Given the description of an element on the screen output the (x, y) to click on. 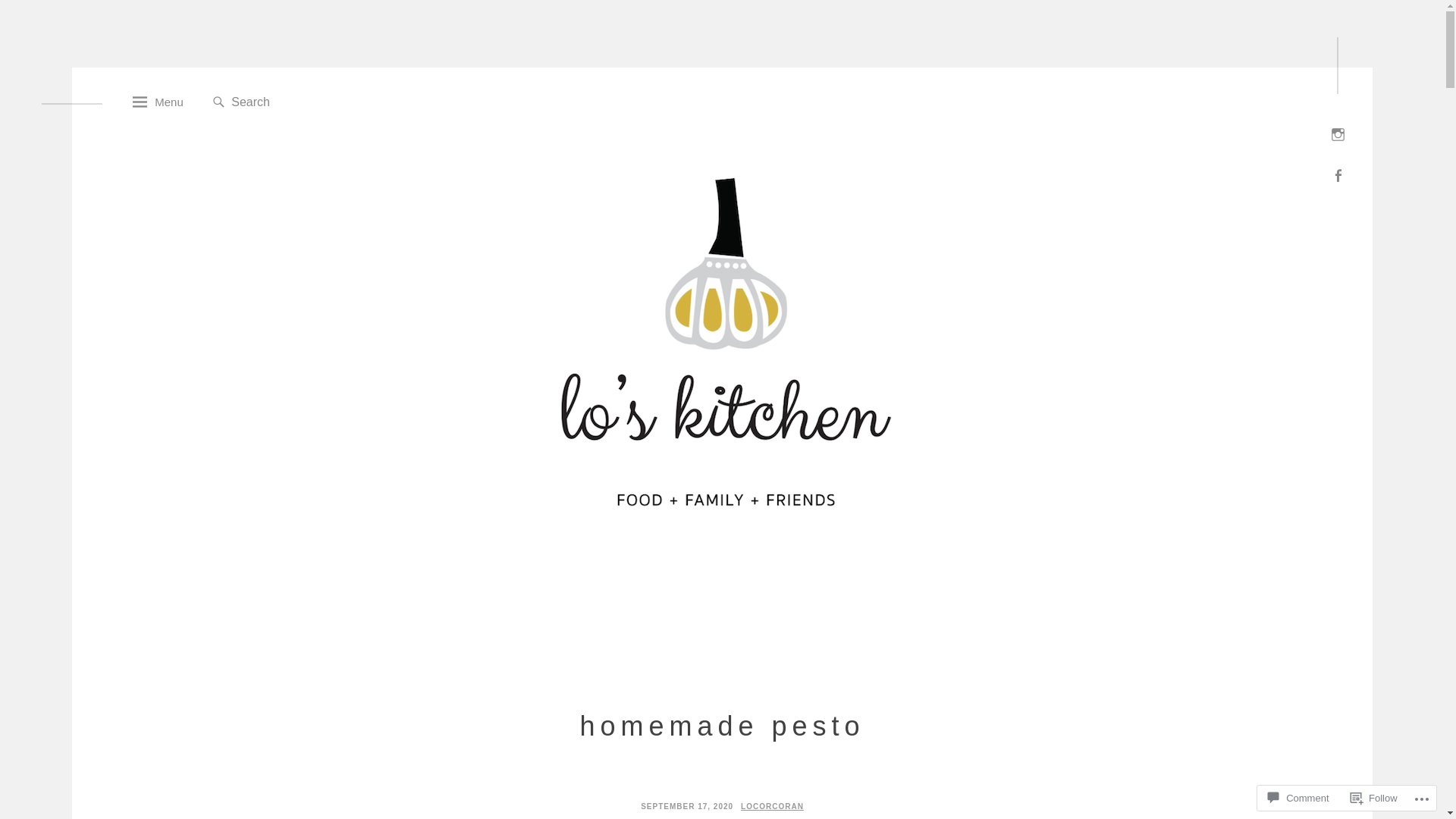
LO'S KITCHEN Element type: text (422, 615)
SEPTEMBER 17, 2020 Element type: text (686, 806)
LOCORCORAN Element type: text (771, 806)
Follow Element type: text (1373, 797)
Comment Element type: text (1297, 797)
Search for: Element type: hover (307, 102)
Menu Element type: text (158, 102)
